Given the description of an element on the screen output the (x, y) to click on. 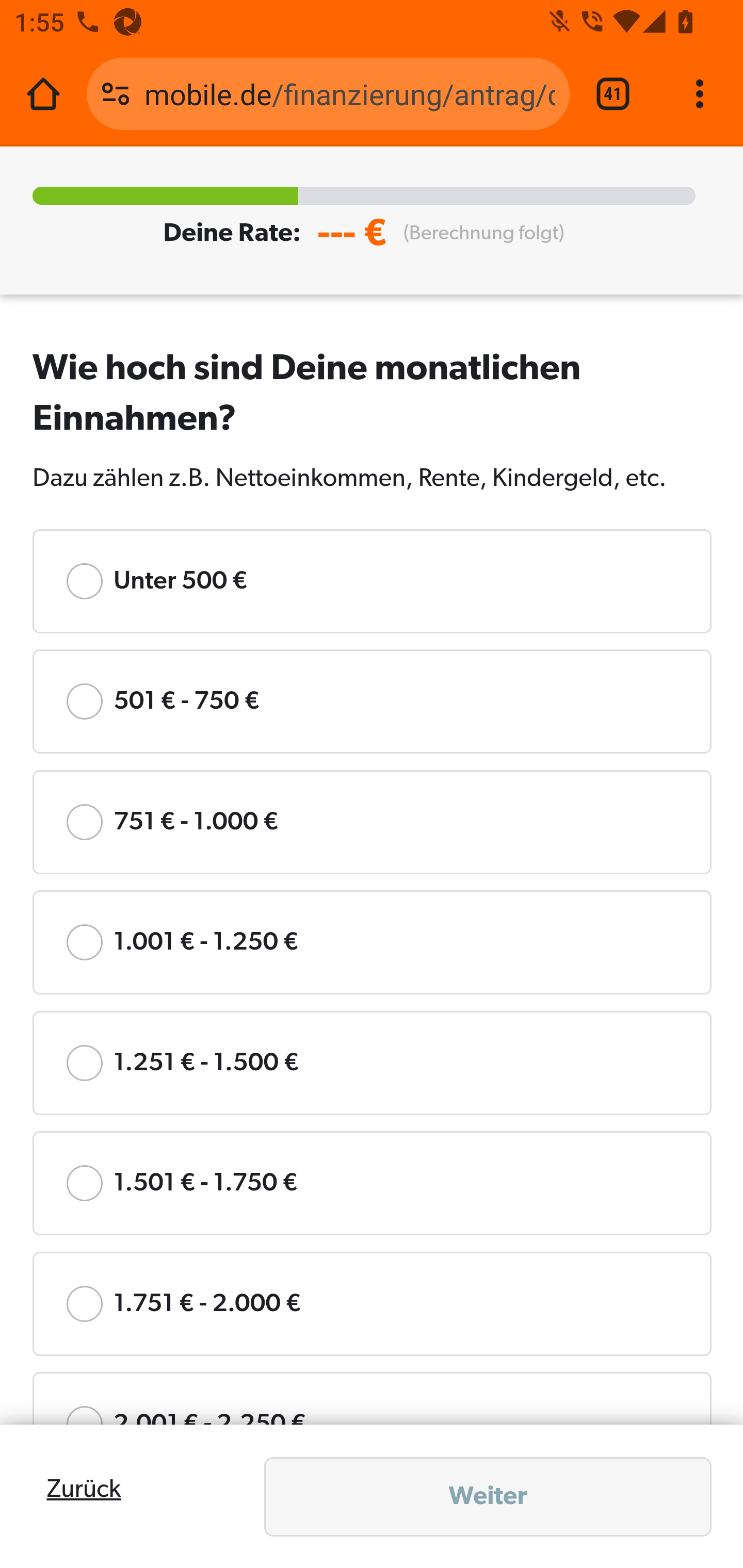
Open the home page (43, 93)
Connection is secure (115, 93)
Switch or close tabs (612, 93)
Customize and control Google Chrome (699, 93)
Zurück (83, 1490)
Weiter (488, 1497)
